Given the description of an element on the screen output the (x, y) to click on. 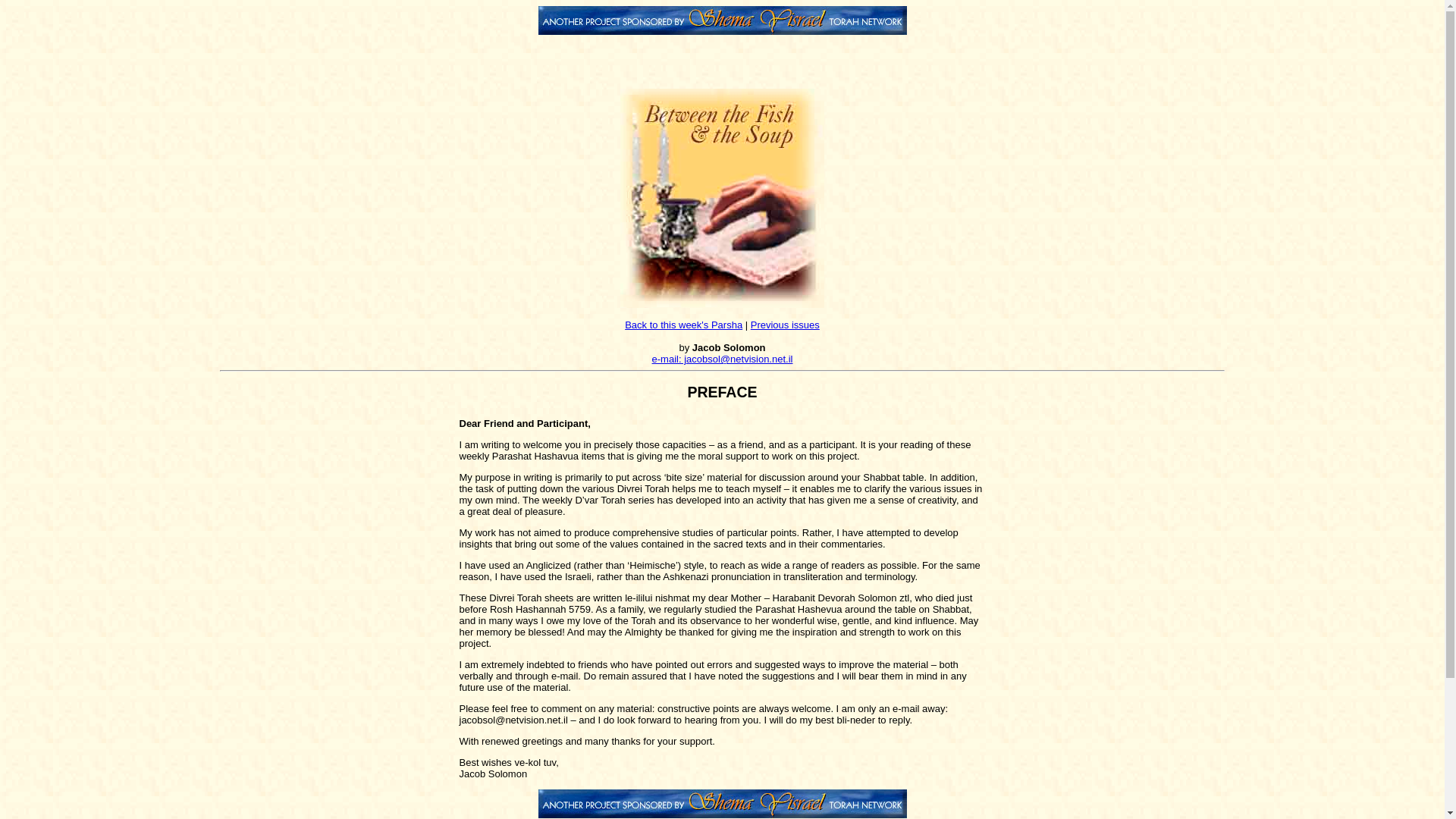
Previous issues (785, 324)
Back to this week's Parsha (683, 324)
